Given the description of an element on the screen output the (x, y) to click on. 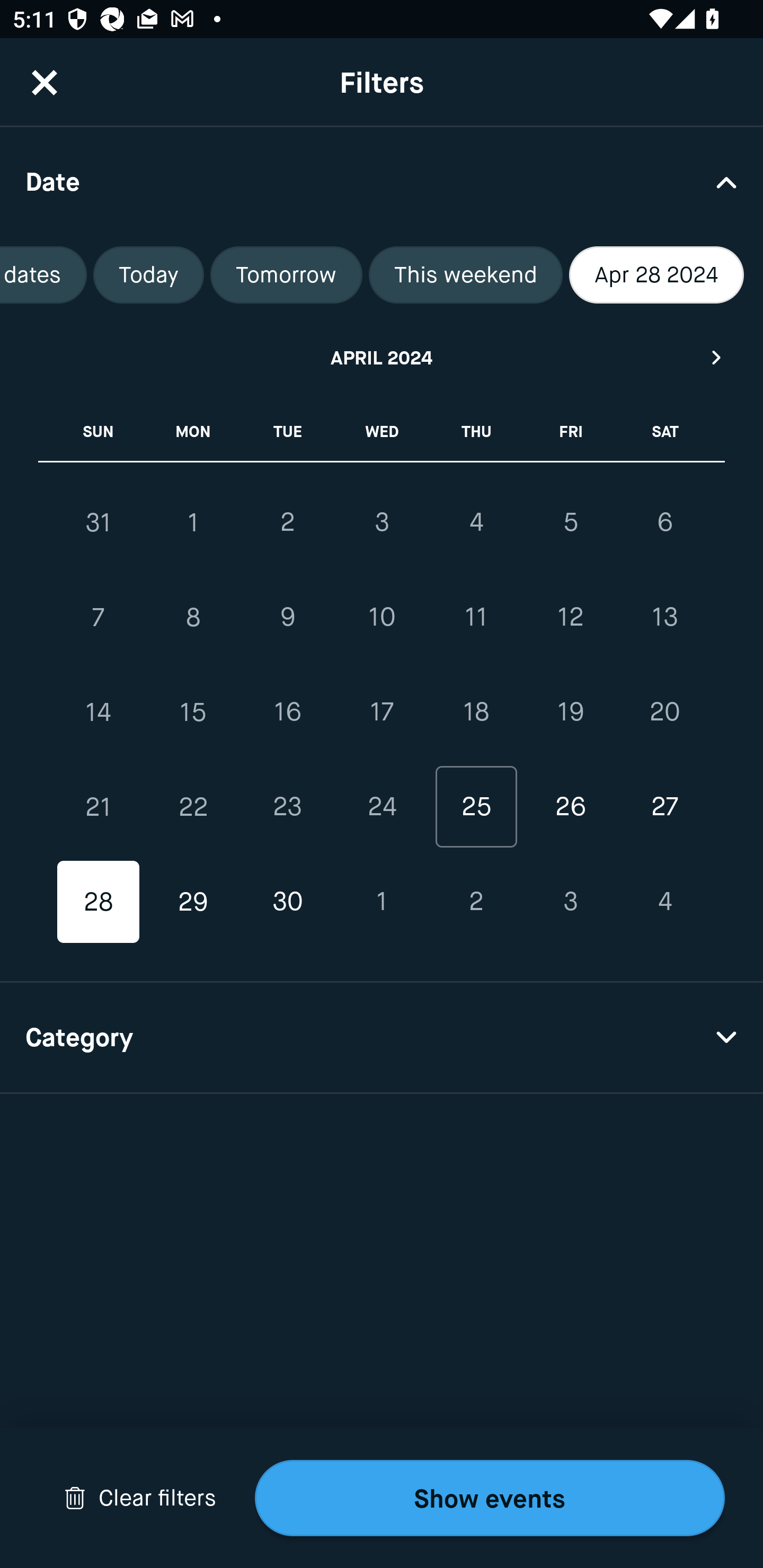
CloseButton (44, 82)
Date Drop Down Arrow (381, 181)
All dates (43, 274)
Today (148, 274)
Tomorrow (286, 274)
This weekend (465, 274)
Apr 28 2024 (656, 274)
Next (717, 357)
31 (98, 522)
1 (192, 522)
2 (287, 522)
3 (381, 522)
4 (475, 522)
5 (570, 522)
6 (664, 522)
7 (98, 617)
8 (192, 617)
9 (287, 617)
10 (381, 617)
11 (475, 617)
12 (570, 617)
13 (664, 617)
14 (98, 711)
15 (192, 711)
16 (287, 711)
17 (381, 711)
18 (475, 711)
19 (570, 711)
20 (664, 711)
21 (98, 806)
22 (192, 806)
23 (287, 806)
24 (381, 806)
25 (475, 806)
26 (570, 806)
27 (664, 806)
28 (98, 901)
29 (192, 901)
30 (287, 901)
1 (381, 901)
2 (475, 901)
3 (570, 901)
4 (664, 901)
Category Drop Down Arrow (381, 1038)
Drop Down Arrow Clear filters (139, 1497)
Show events (489, 1497)
